Given the description of an element on the screen output the (x, y) to click on. 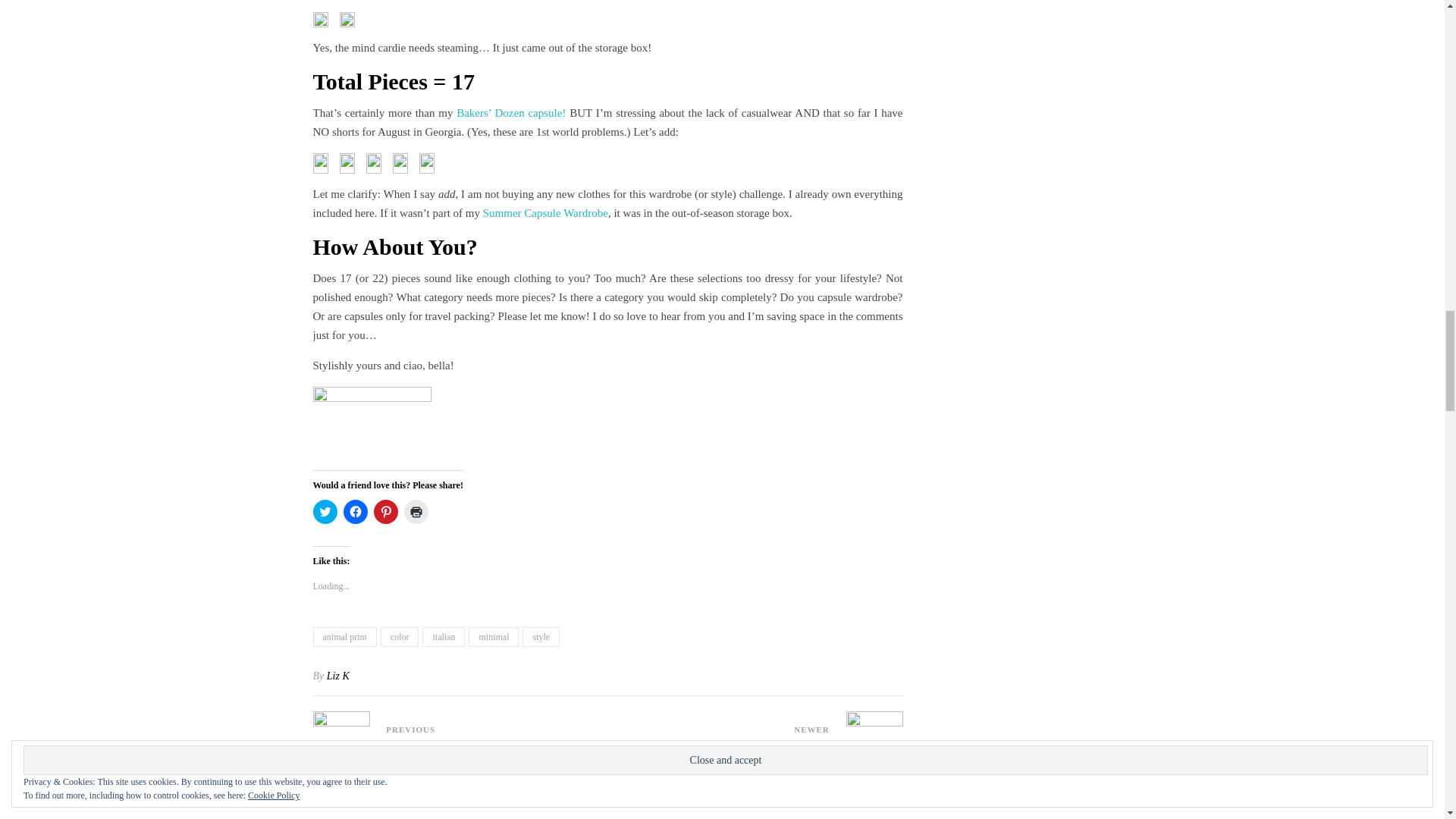
minimal (493, 637)
Liz K (337, 675)
Posts by Liz K (337, 675)
Click to share on Facebook (354, 511)
Click to share on Twitter (324, 511)
Click to print (415, 511)
style (540, 637)
color (399, 637)
Summer Capsule Wardrobe (545, 213)
animal print (344, 637)
